Given the description of an element on the screen output the (x, y) to click on. 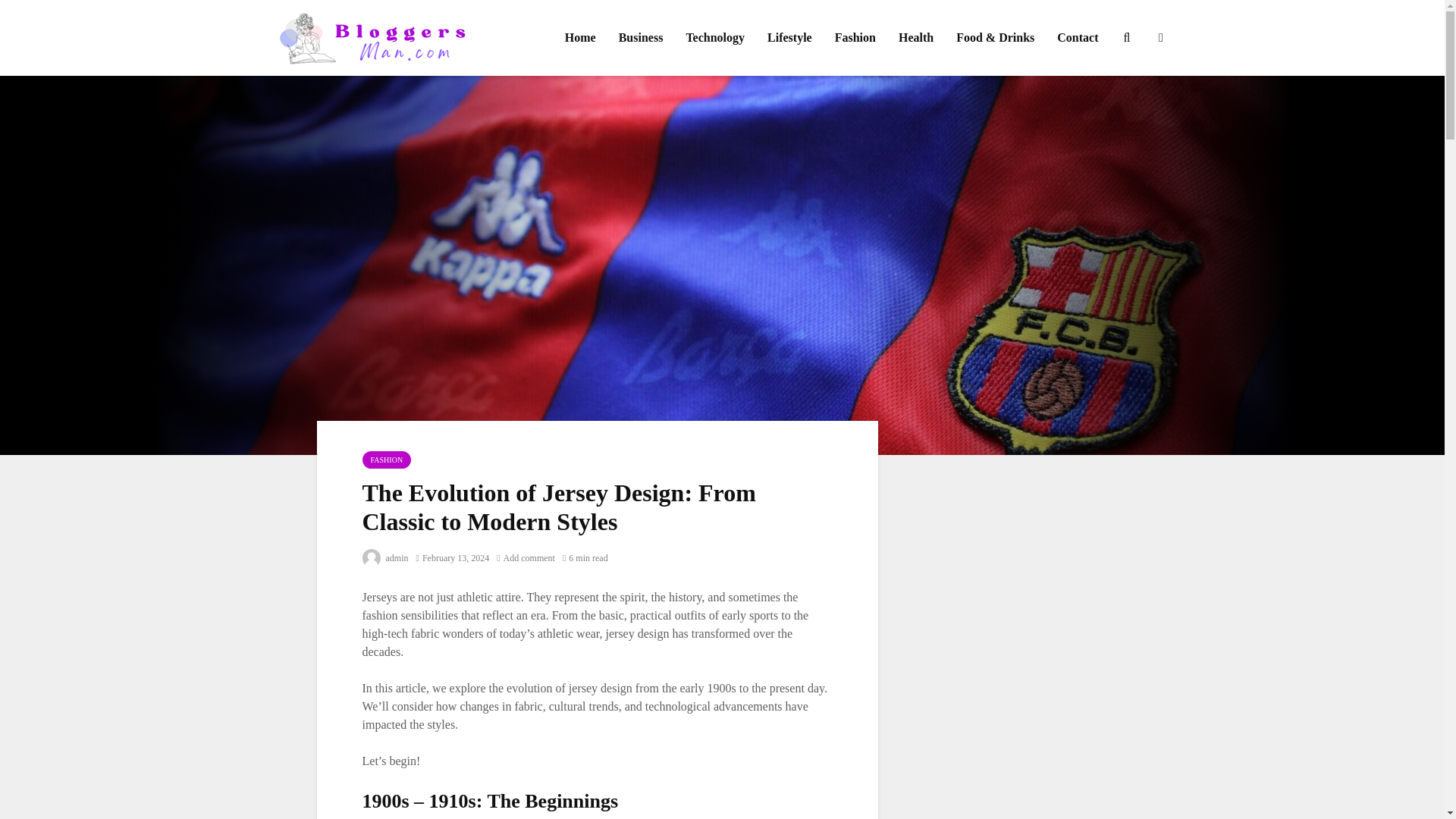
Health (915, 37)
Technology (714, 37)
admin (385, 557)
Home (580, 37)
Fashion (855, 37)
Lifestyle (789, 37)
Business (641, 37)
Contact (1077, 37)
Add comment (525, 557)
FASHION (387, 459)
